Given the description of an element on the screen output the (x, y) to click on. 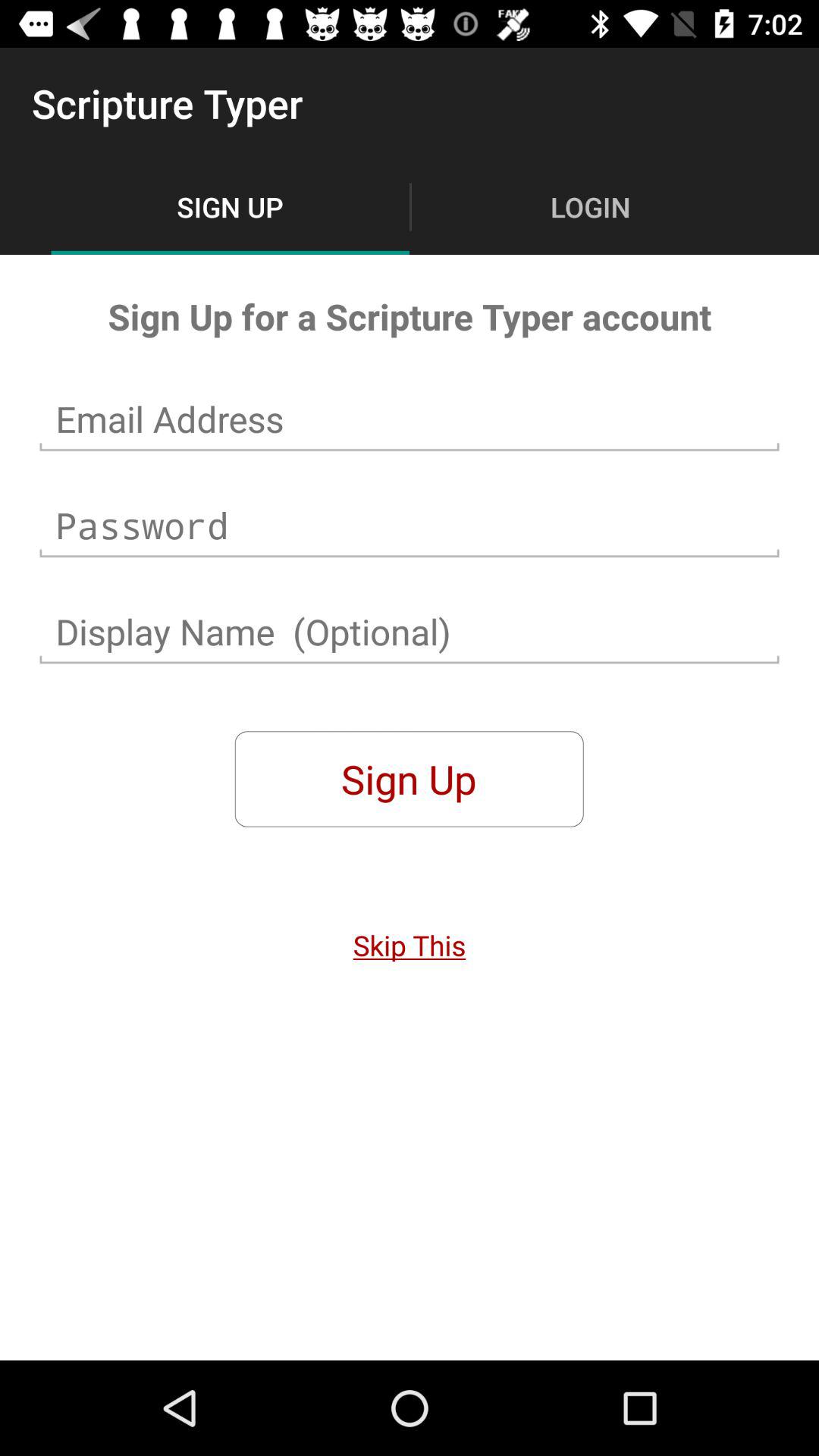
display name you would like for your new account not manditory (409, 632)
